Given the description of an element on the screen output the (x, y) to click on. 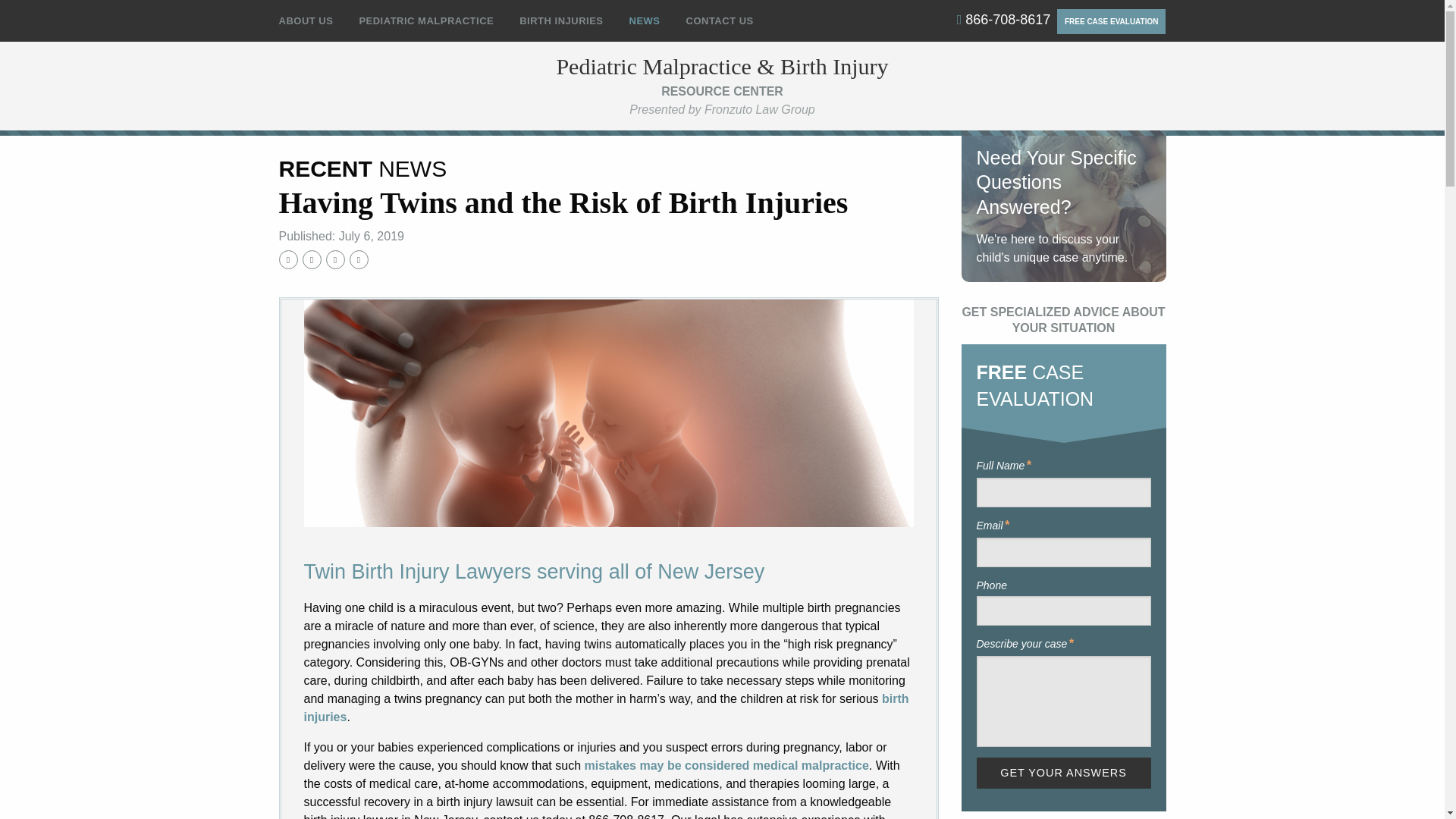
Get Your Answers (1063, 772)
ABOUT US (312, 20)
Share article on Facebook (288, 259)
BIRTH INJURIES (560, 20)
Get Your Answers (1063, 772)
FREE CASE EVALUATION (1111, 21)
Share article on Twitter (310, 259)
CONTACT US (713, 20)
birth injuries (605, 707)
mistakes may be considered medical malpractice (725, 765)
NEWS (643, 20)
Share article on Linkedin (335, 259)
PEDIATRIC MALPRACTICE (426, 20)
866-708-8617 (1003, 19)
